Given the description of an element on the screen output the (x, y) to click on. 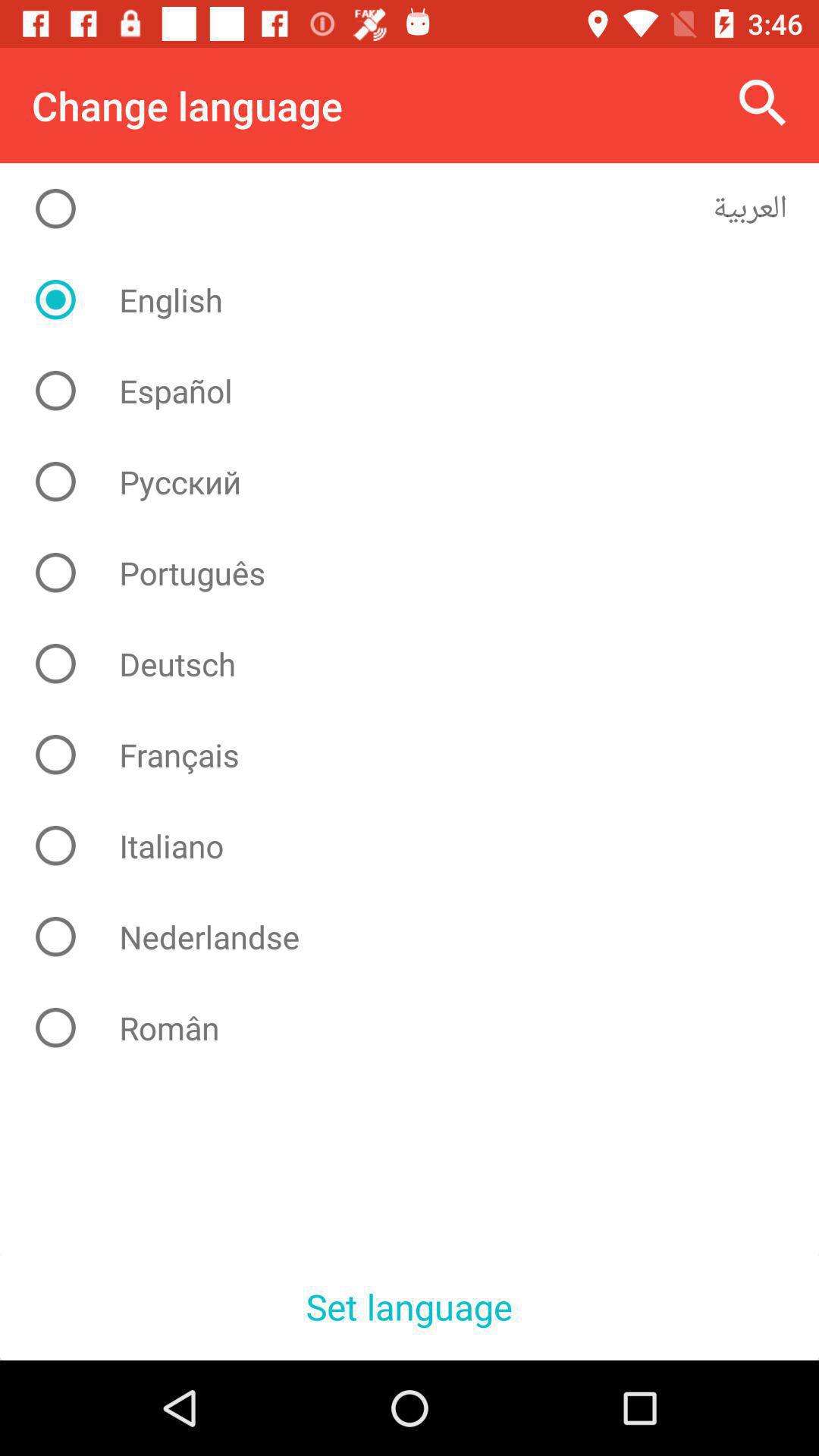
launch the italiano (421, 845)
